Given the description of an element on the screen output the (x, y) to click on. 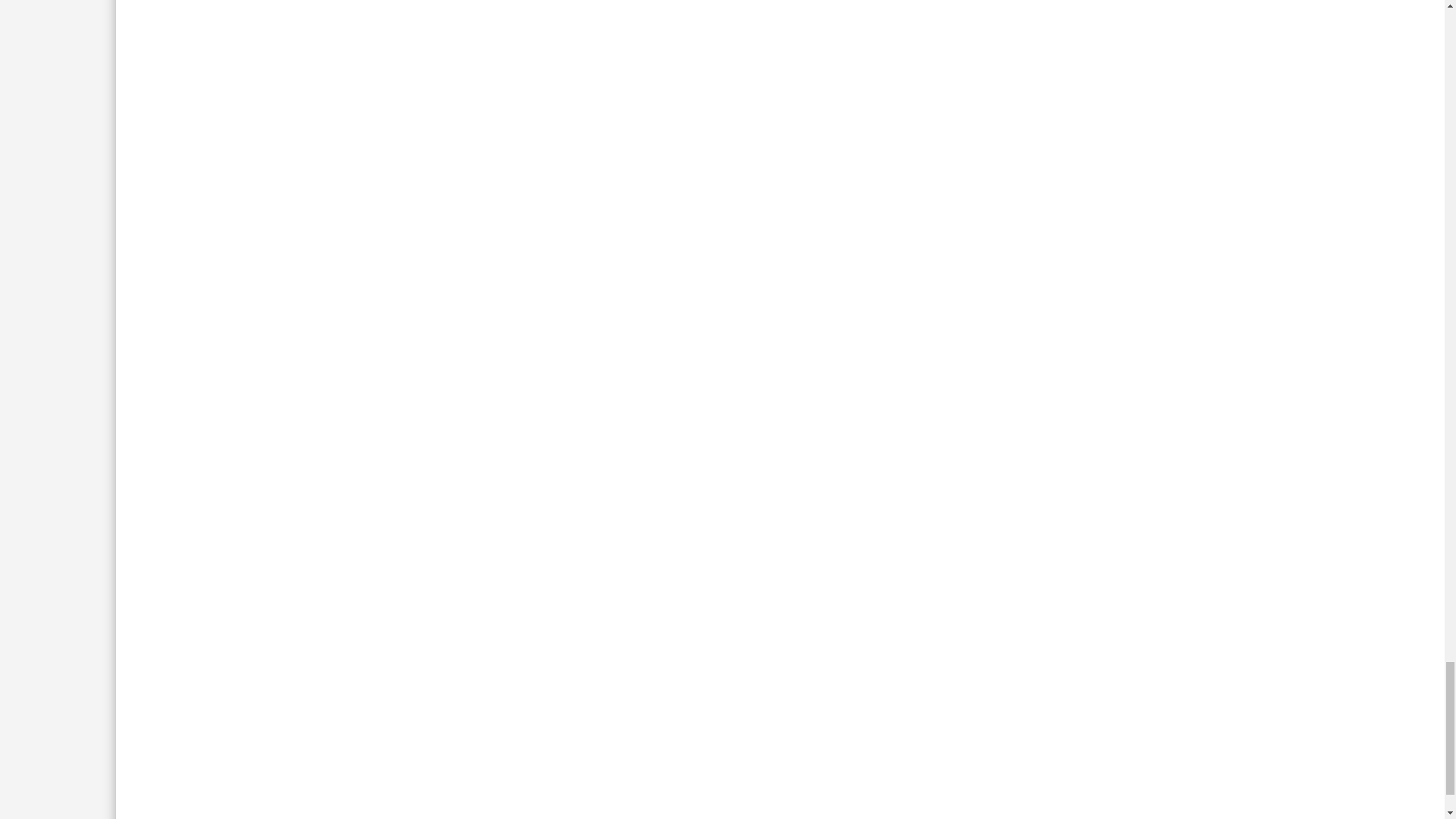
Teaching Tools (467, 633)
Howard Herrell, MD (250, 633)
Evidence Based Medicine (365, 633)
